Given the description of an element on the screen output the (x, y) to click on. 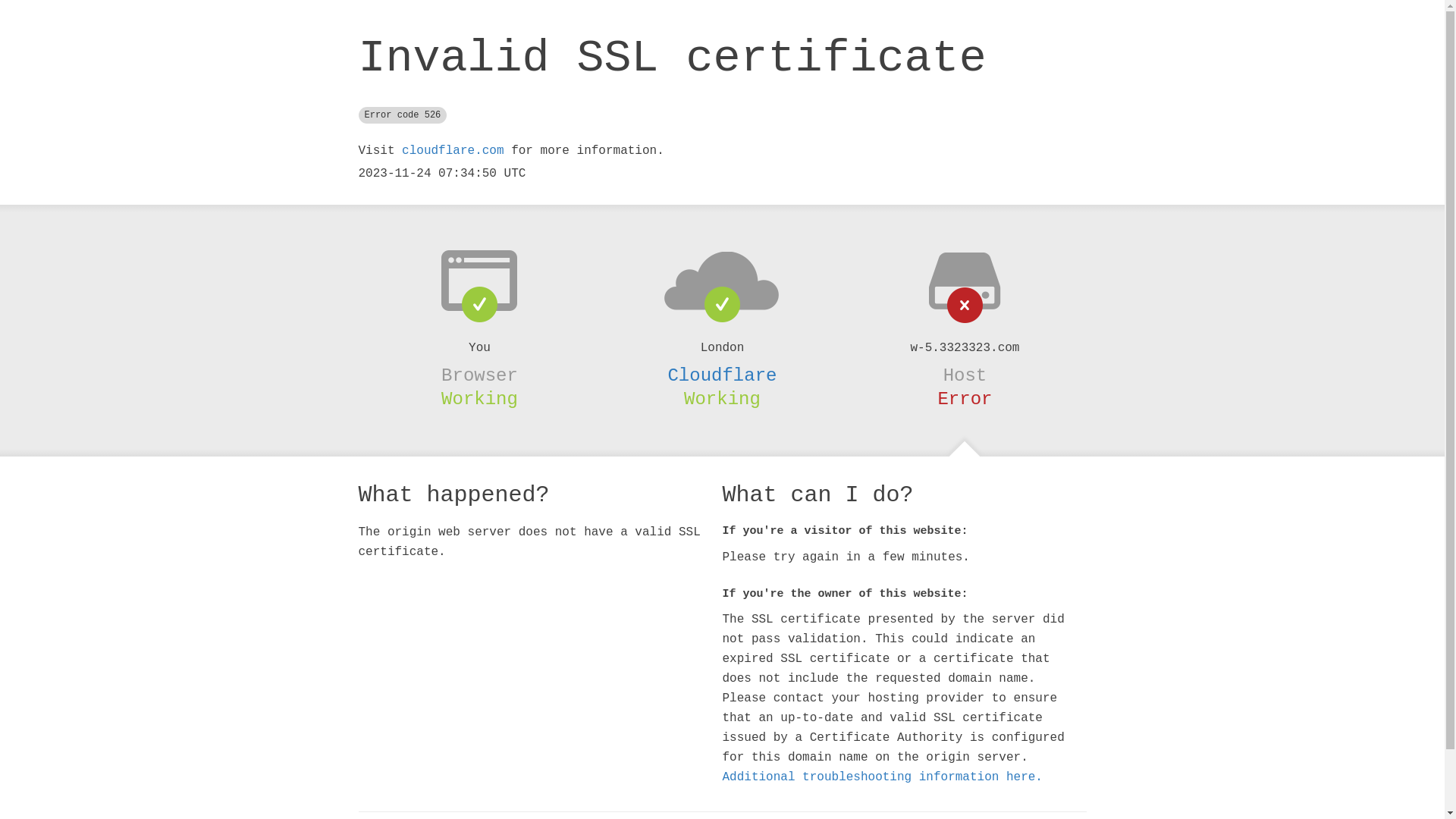
Additional troubleshooting information here. Element type: text (881, 777)
cloudflare.com Element type: text (452, 150)
Cloudflare Element type: text (721, 375)
